Given the description of an element on the screen output the (x, y) to click on. 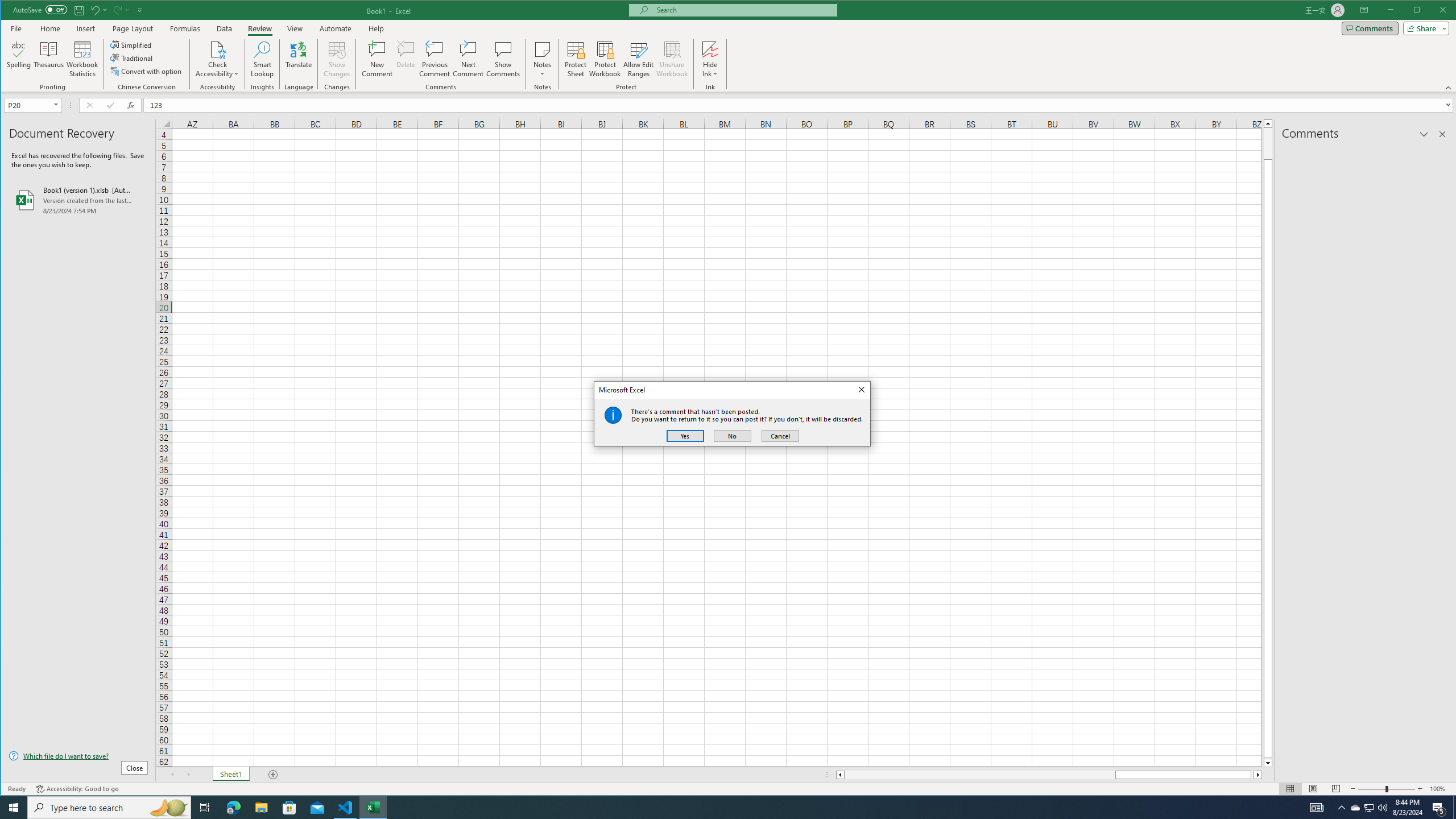
Page left (979, 774)
Previous Comment (434, 59)
Protect Sheet... (575, 59)
Spelling... (18, 59)
Running applications (717, 807)
Microsoft Edge (233, 807)
Start (13, 807)
Show Changes (335, 59)
Protect Workbook... (604, 59)
